Given the description of an element on the screen output the (x, y) to click on. 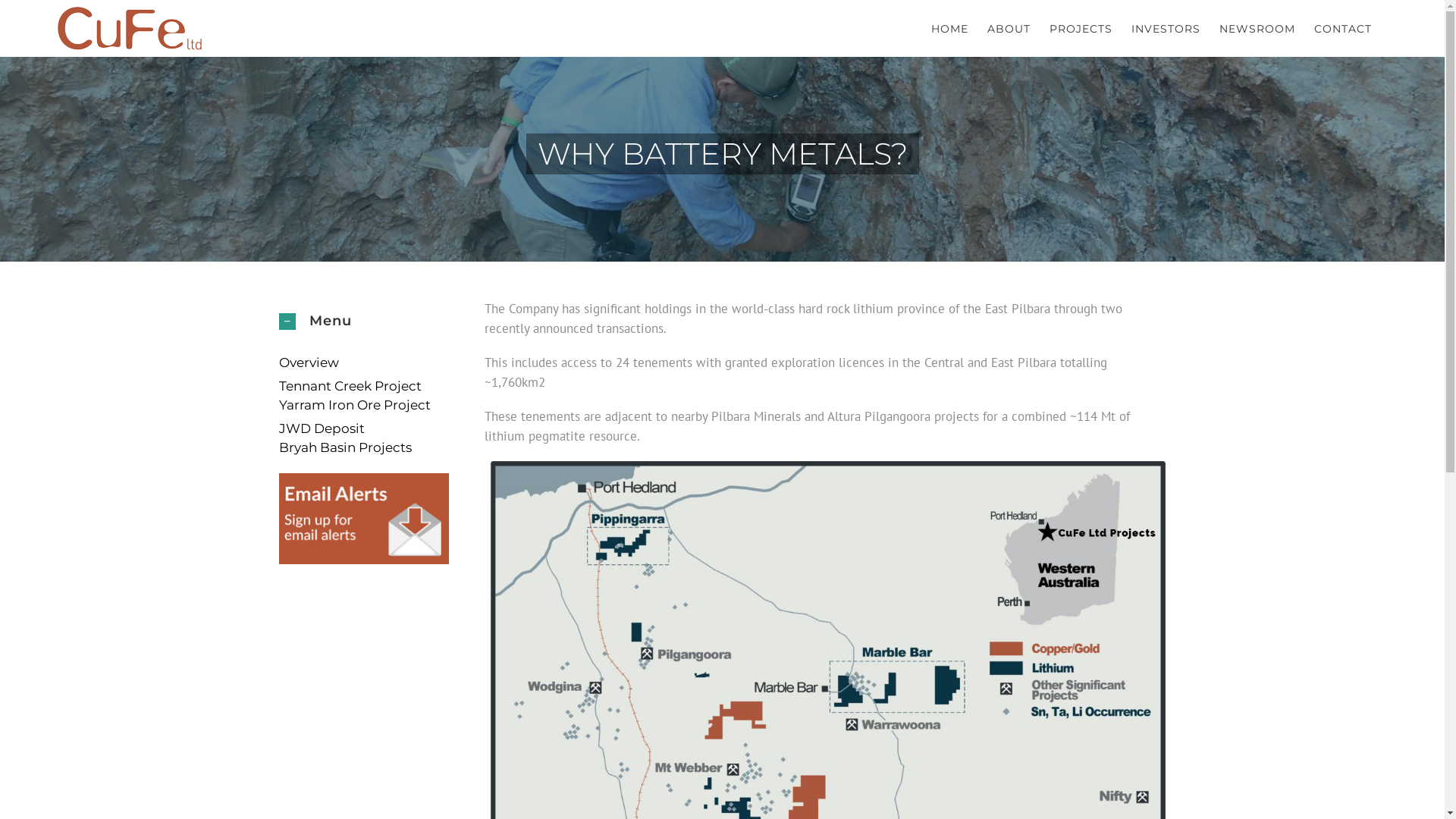
Yarram Iron Ore Project Element type: text (354, 404)
NEWSROOM Element type: text (1257, 28)
HOME Element type: text (949, 28)
PROJECTS Element type: text (1080, 28)
Menu Element type: text (364, 320)
INVESTORS Element type: text (1165, 28)
Overview Element type: text (308, 362)
Bryah Basin Projects Element type: text (345, 447)
Tennant Creek Project Element type: text (350, 384)
CONTACT Element type: text (1342, 28)
ABOUT Element type: text (1008, 28)
JWD Deposit Element type: text (321, 427)
